Given the description of an element on the screen output the (x, y) to click on. 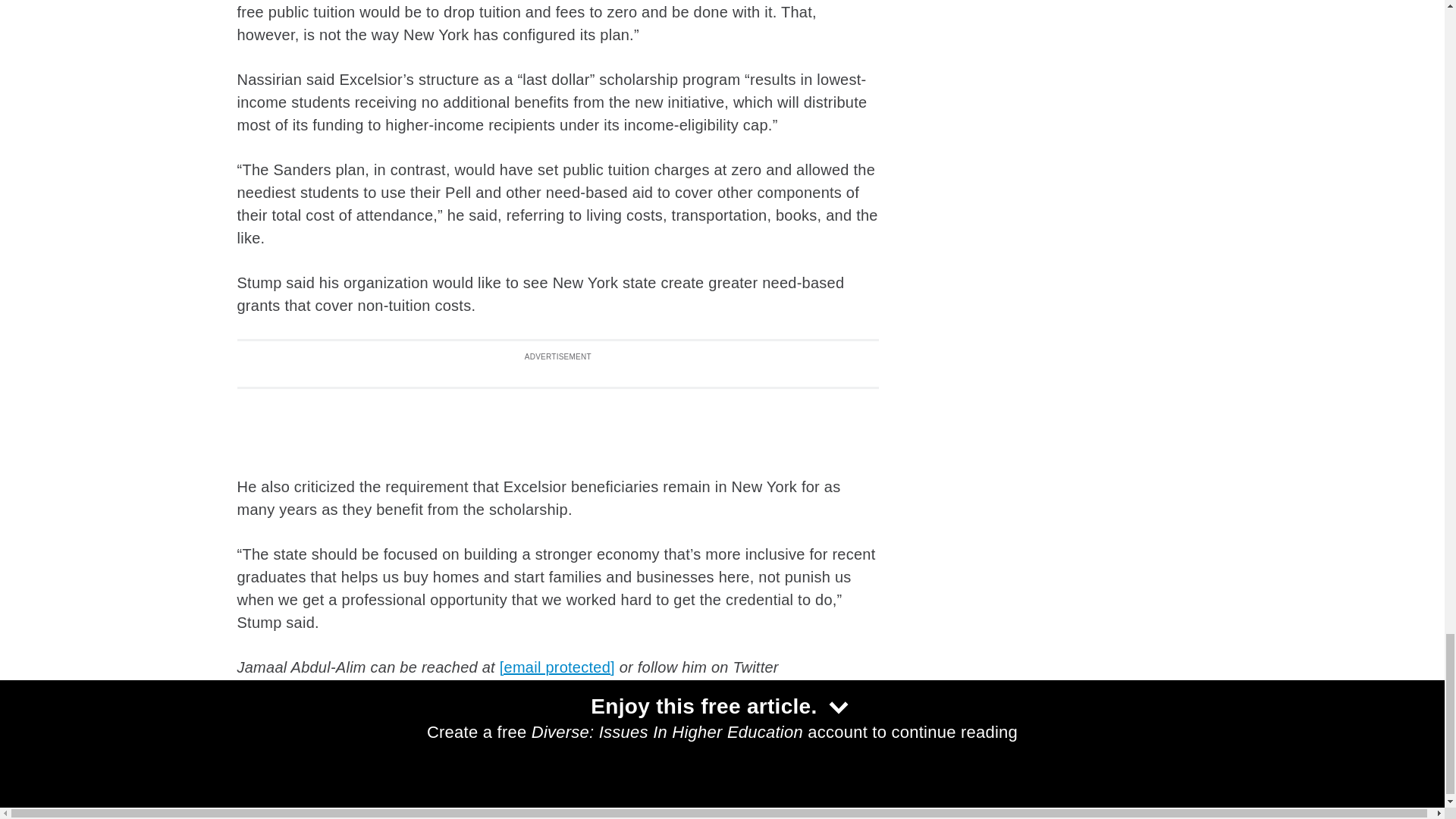
Students (397, 744)
